Given the description of an element on the screen output the (x, y) to click on. 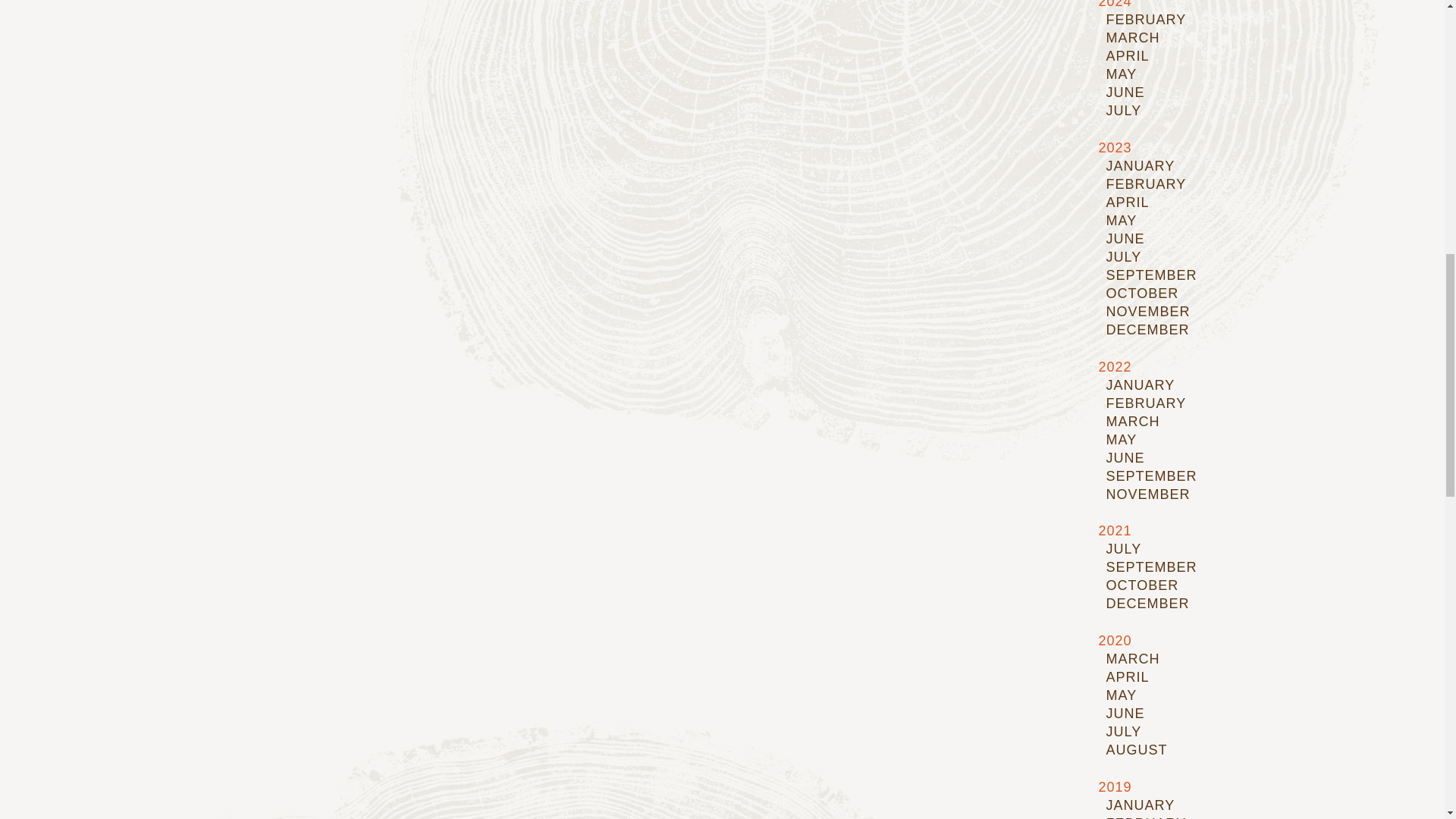
MAY (1121, 73)
APRIL (1126, 55)
2024 (1114, 4)
FEBRUARY (1145, 19)
MARCH (1131, 37)
